Given the description of an element on the screen output the (x, y) to click on. 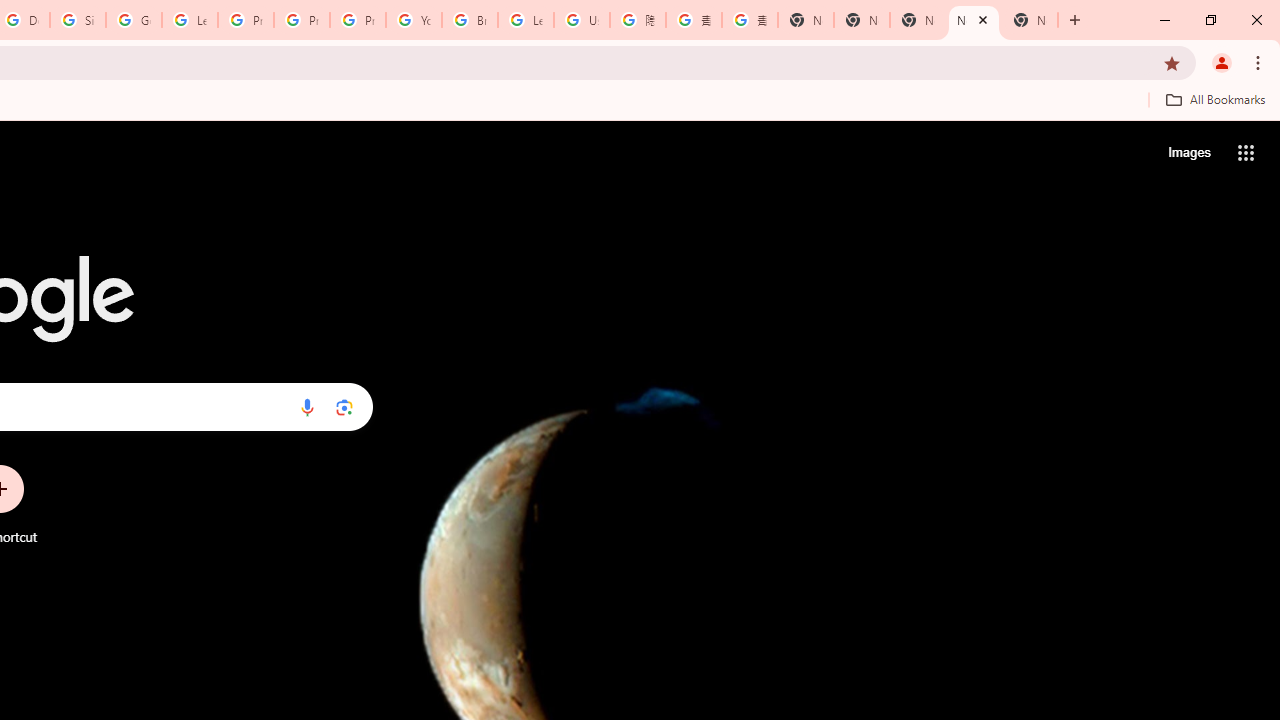
YouTube (413, 20)
New Tab (1030, 20)
